Given the description of an element on the screen output the (x, y) to click on. 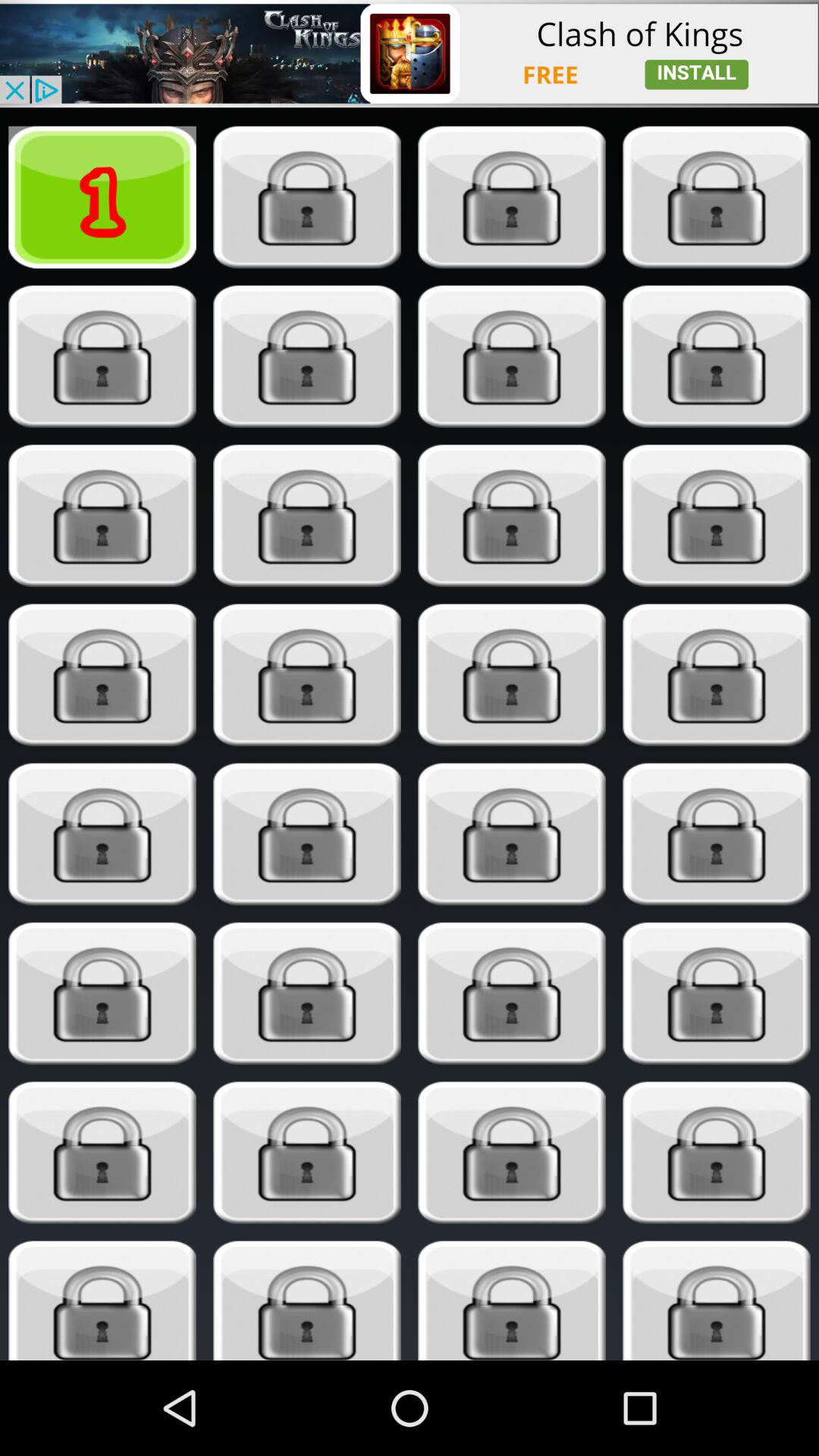
select the widget (306, 1300)
